Given the description of an element on the screen output the (x, y) to click on. 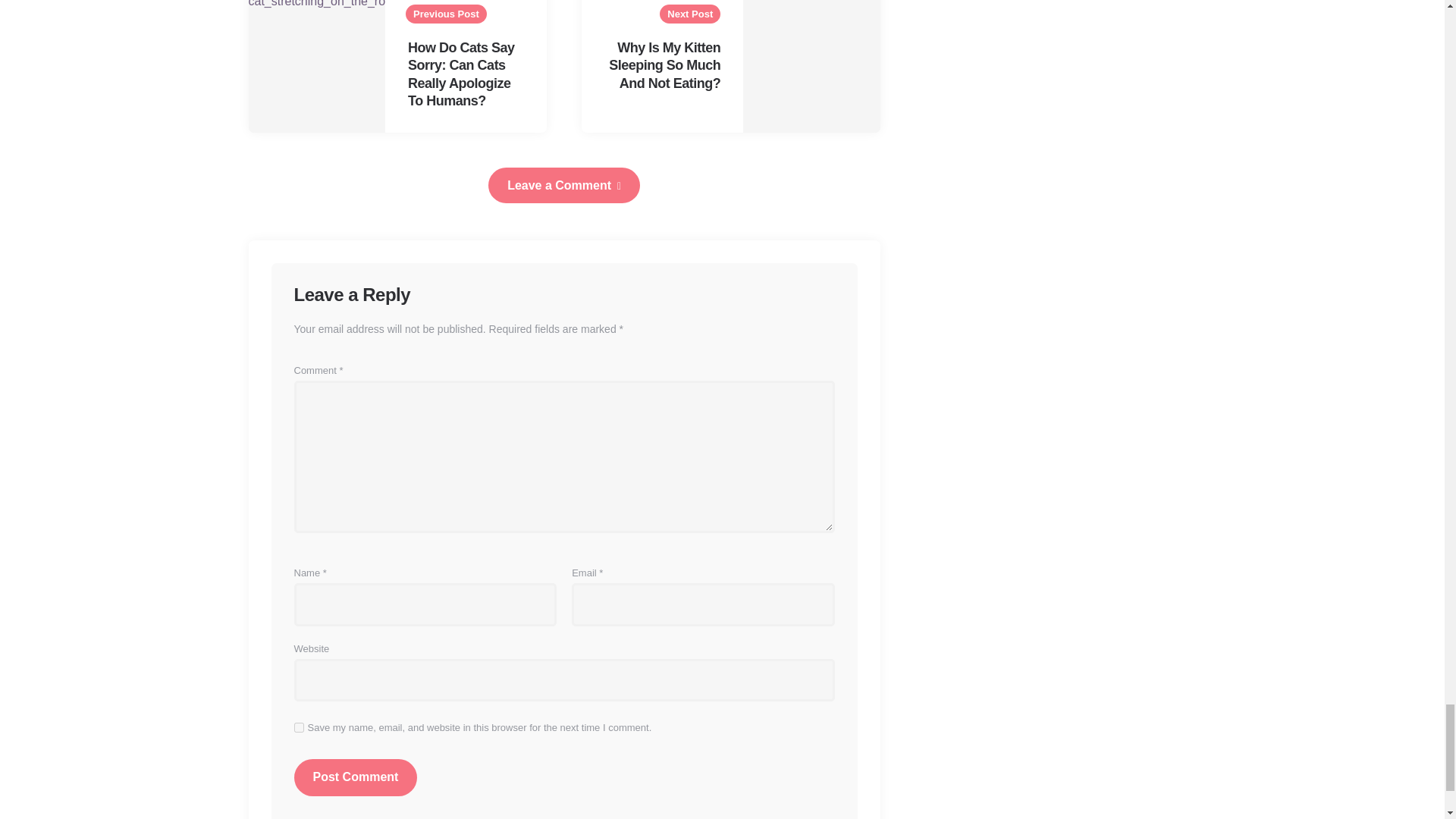
Post Comment (355, 777)
yes (299, 727)
Why Is My Kitten Sleeping So Much And Not Eating? 37 (811, 66)
